Given the description of an element on the screen output the (x, y) to click on. 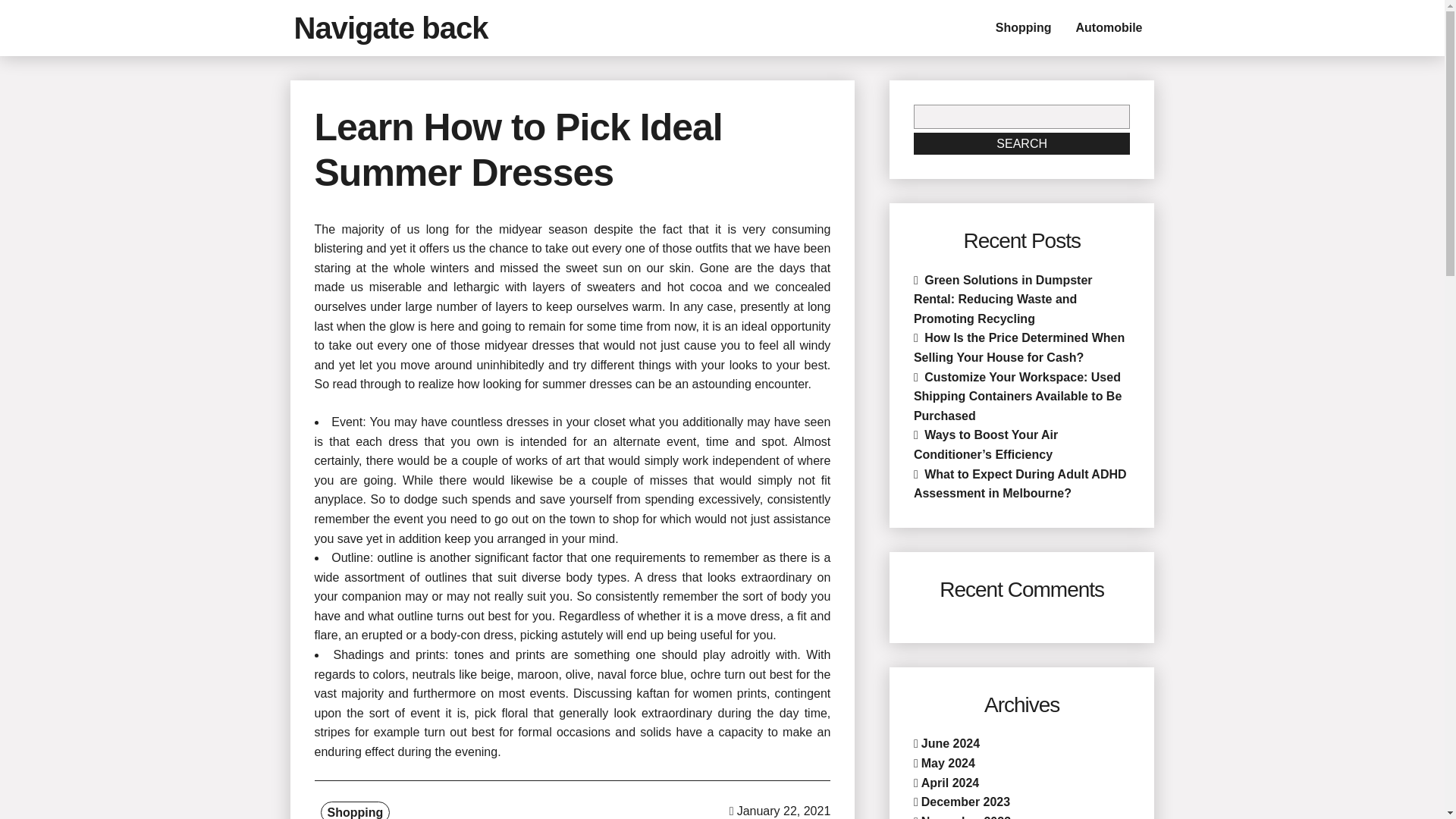
Shopping (1024, 28)
Navigate back (390, 28)
May 2024 (948, 762)
November 2023 (965, 816)
June 2024 (950, 743)
April 2024 (949, 782)
What to Expect During Adult ADHD Assessment in Melbourne? (1020, 483)
Automobile (1108, 28)
Shopping (355, 810)
